Given the description of an element on the screen output the (x, y) to click on. 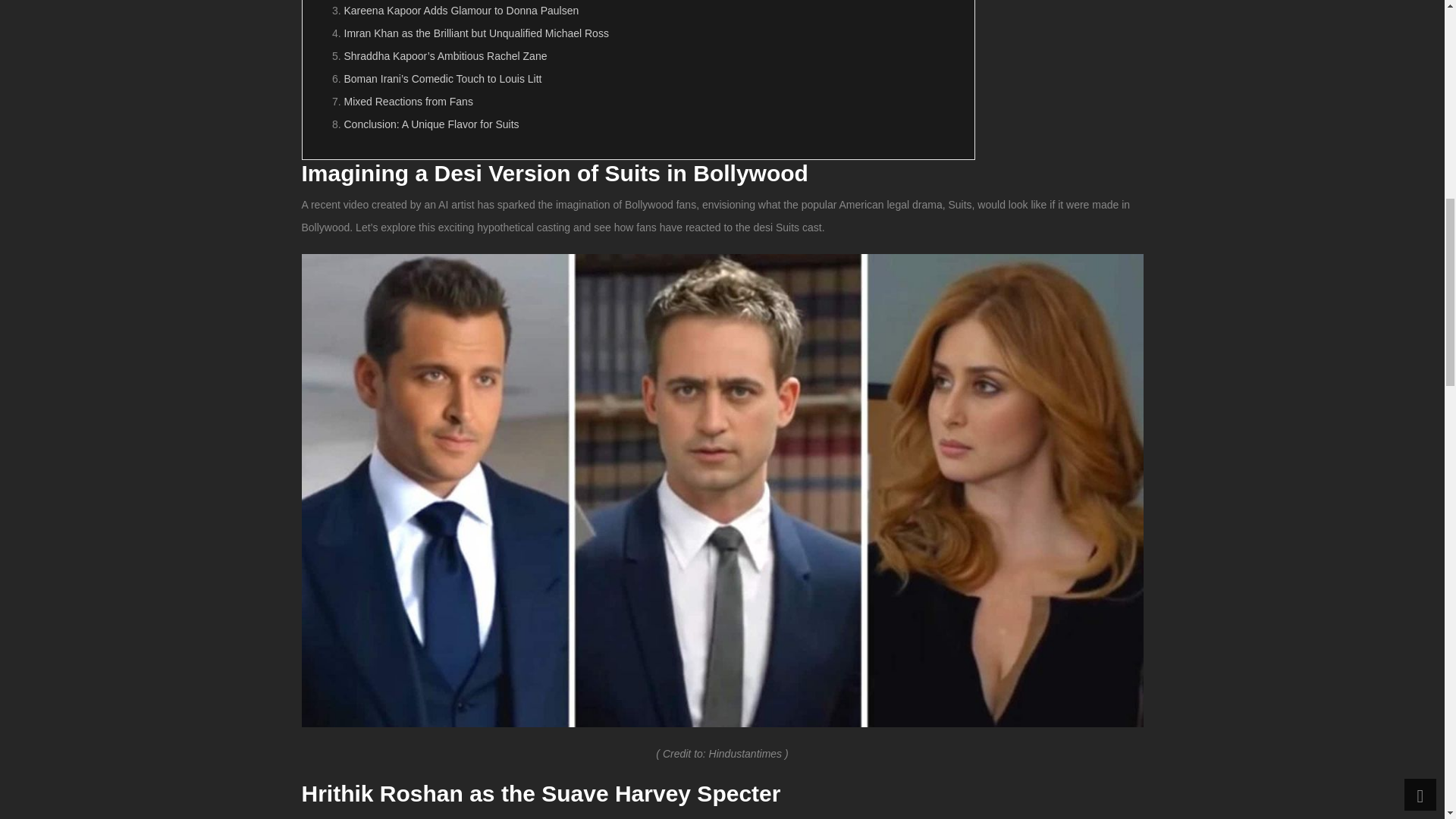
Kareena Kapoor Adds Glamour to Donna Paulsen (461, 10)
Conclusion: A Unique Flavor for Suits (431, 123)
Imran Khan as the Brilliant but Unqualified Michael Ross (475, 33)
Mixed Reactions from Fans (408, 101)
